Given the description of an element on the screen output the (x, y) to click on. 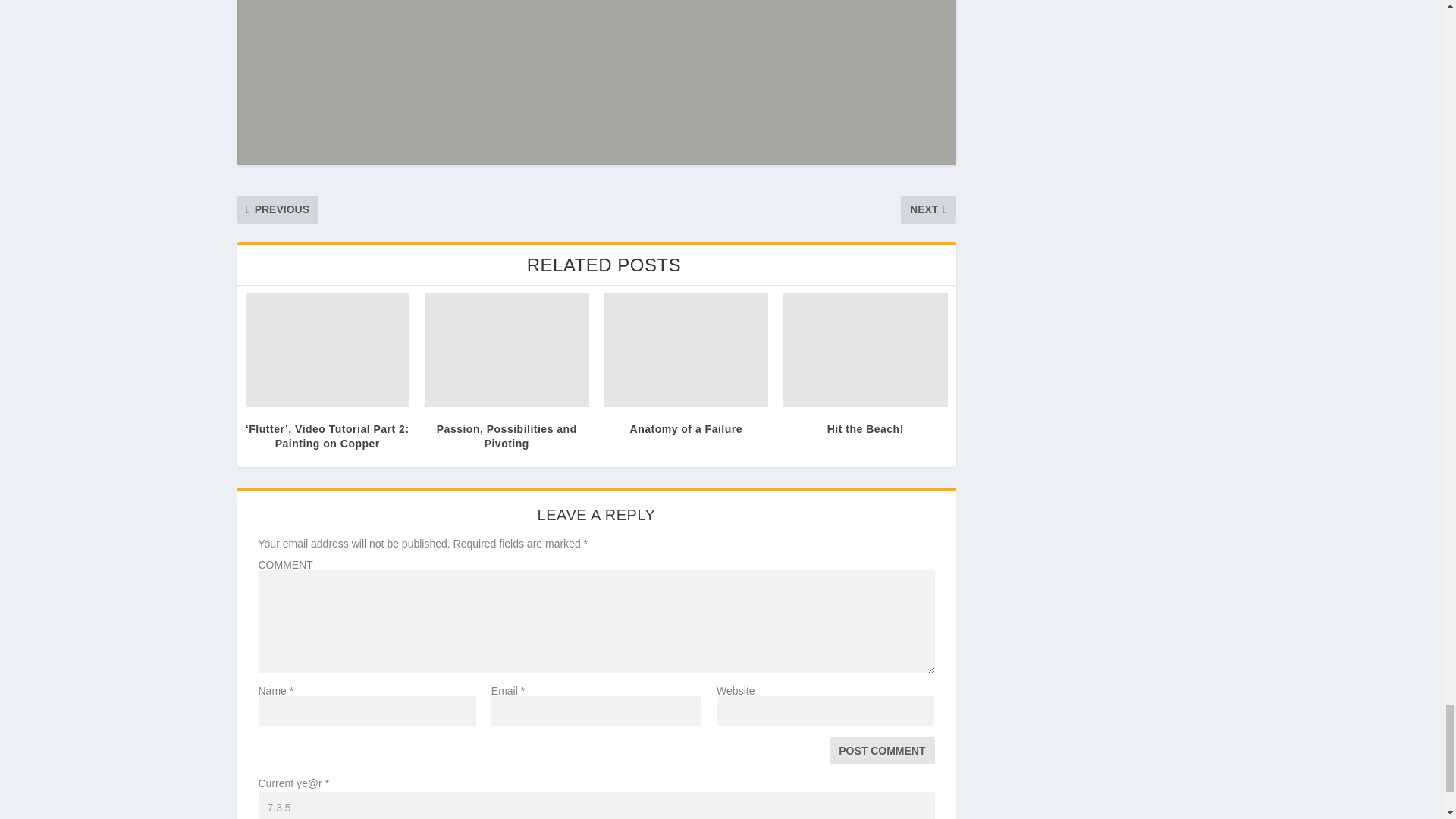
Hit the Beach! (865, 350)
Passion, Possibilities and Pivoting (507, 350)
Post Comment (881, 750)
7.3.5 (595, 805)
Anatomy of a Failure (686, 350)
